Given the description of an element on the screen output the (x, y) to click on. 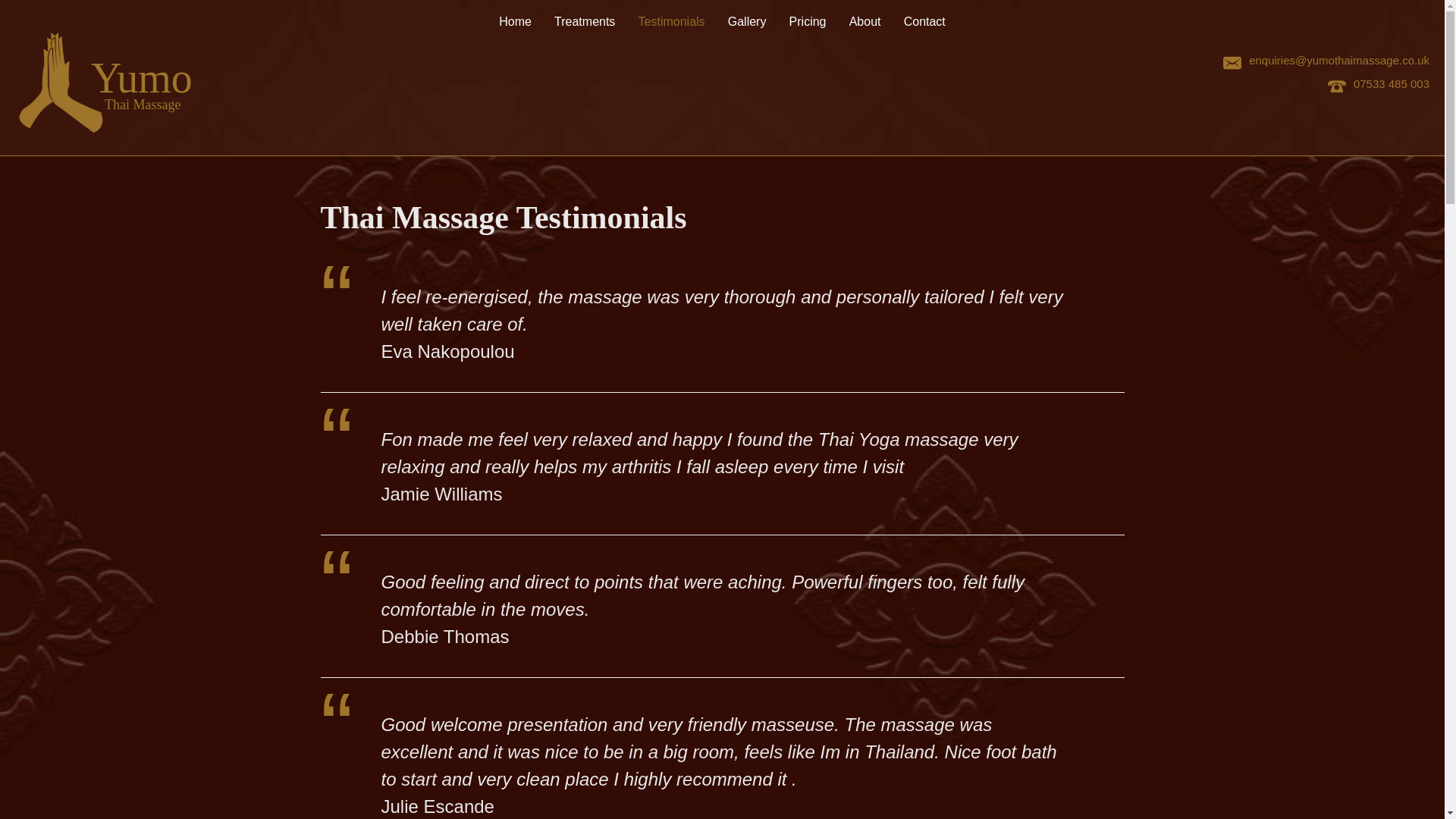
Phone logo (1340, 85)
07533 485 003 (1391, 83)
Testimonials (671, 22)
Pricing (808, 22)
Treatments (584, 22)
Mail logo (1236, 63)
Home (515, 22)
Gallery (747, 22)
Contact (924, 22)
About (864, 22)
